Given the description of an element on the screen output the (x, y) to click on. 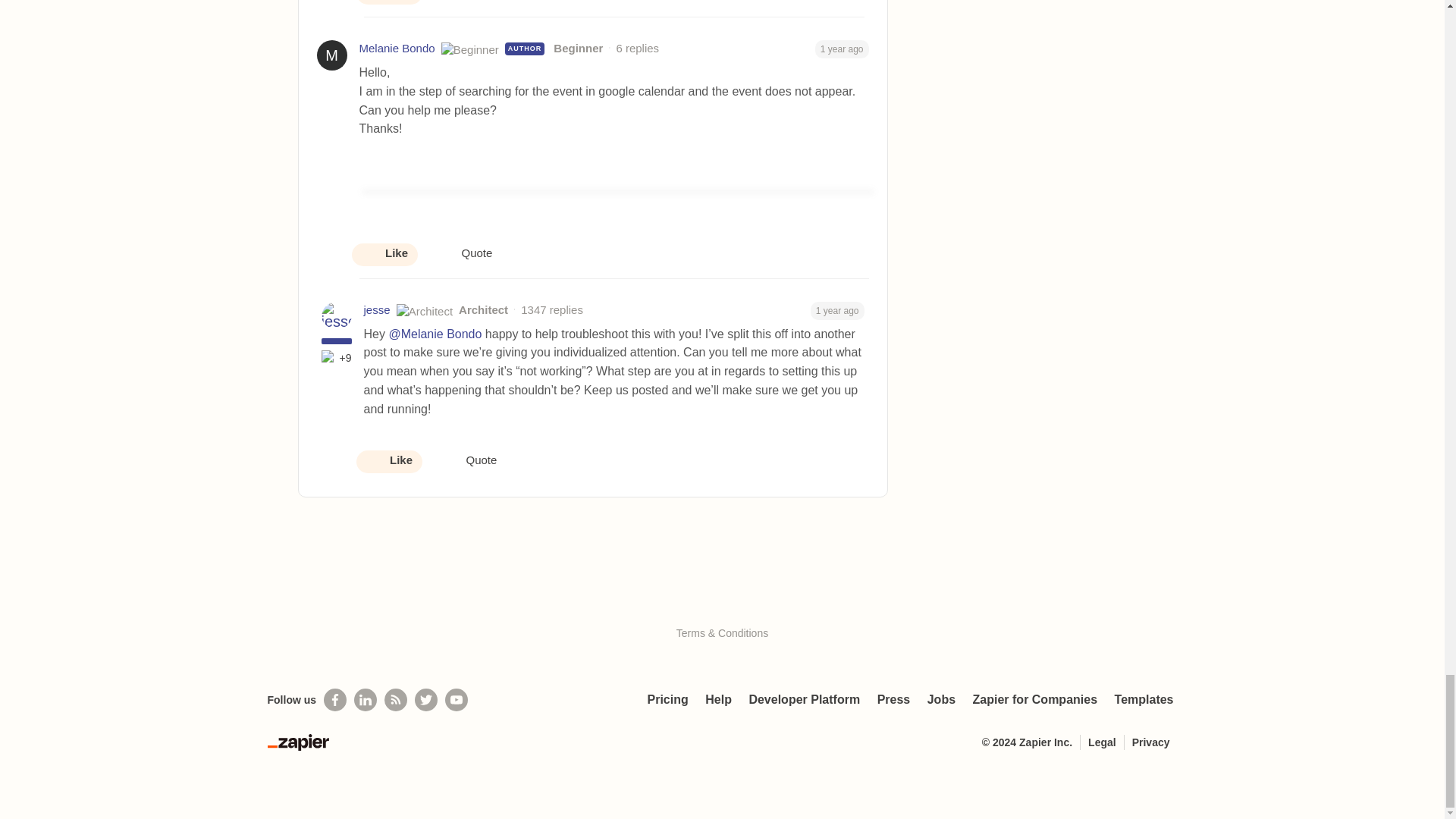
Follow us on Facebook (334, 699)
Melanie Bondo (397, 48)
Visit Gainsight.com (722, 601)
First Best Answer (328, 357)
jesse (377, 310)
